Given the description of an element on the screen output the (x, y) to click on. 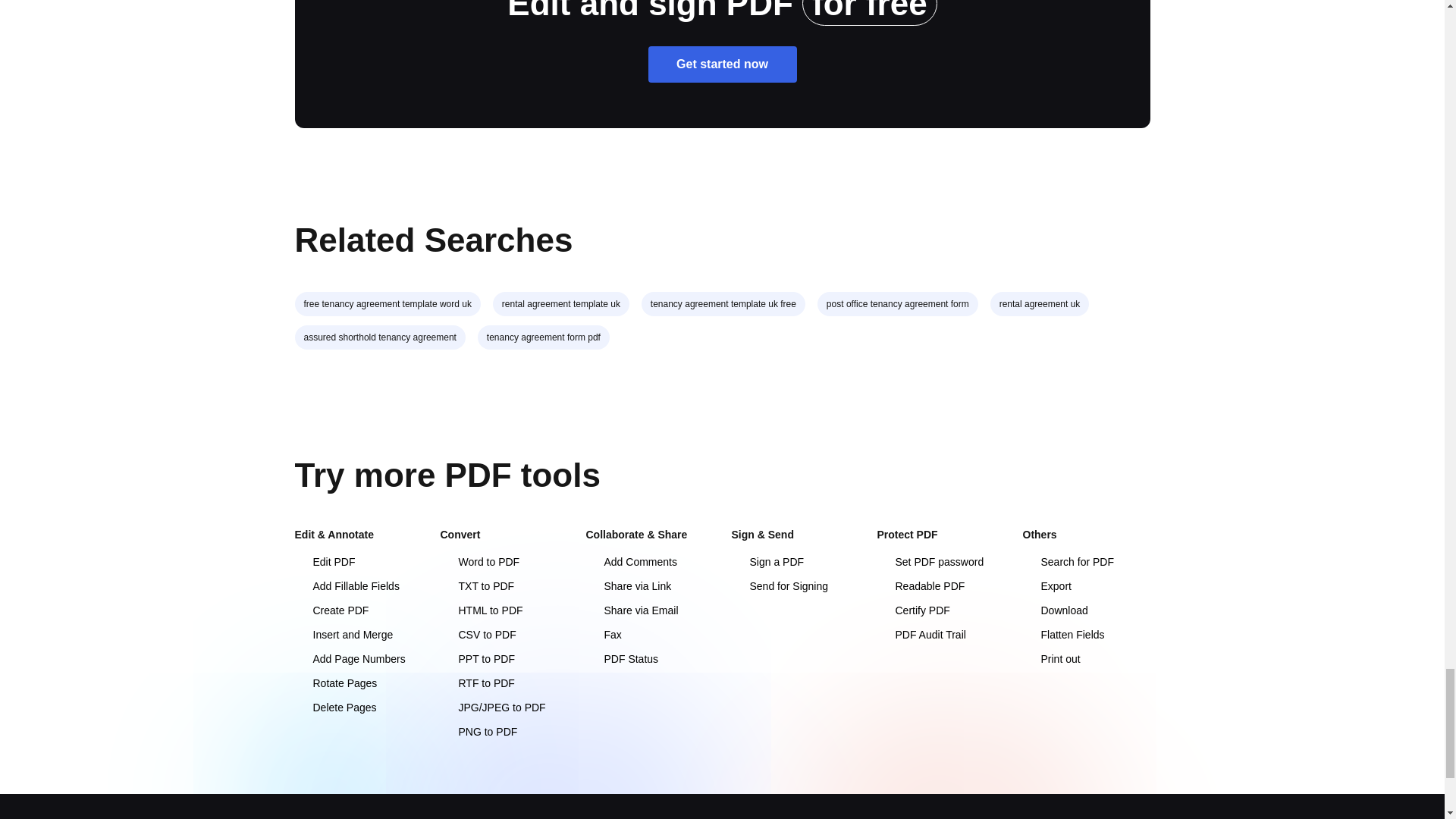
Sign a PDF (766, 562)
Add Comments (631, 562)
CSV to PDF (477, 634)
Create PDF (331, 610)
RTF to PDF (476, 683)
Add Fillable Fields (346, 585)
PDF Status (621, 658)
TXT to PDF (476, 585)
Insert and Merge (343, 634)
Word to PDF (479, 562)
